Given the description of an element on the screen output the (x, y) to click on. 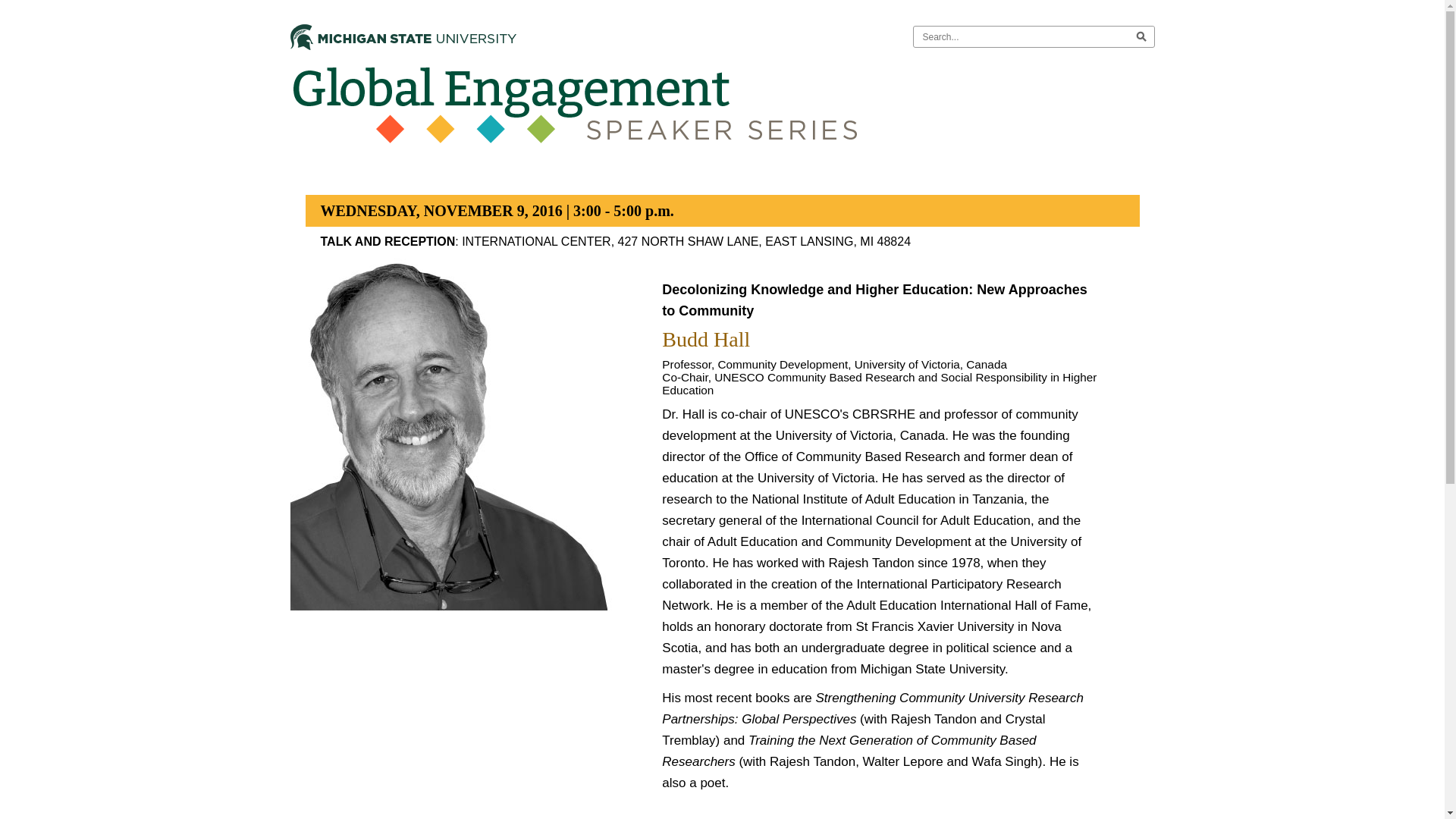
search button (1141, 35)
search button (1141, 35)
Home (721, 105)
